Given the description of an element on the screen output the (x, y) to click on. 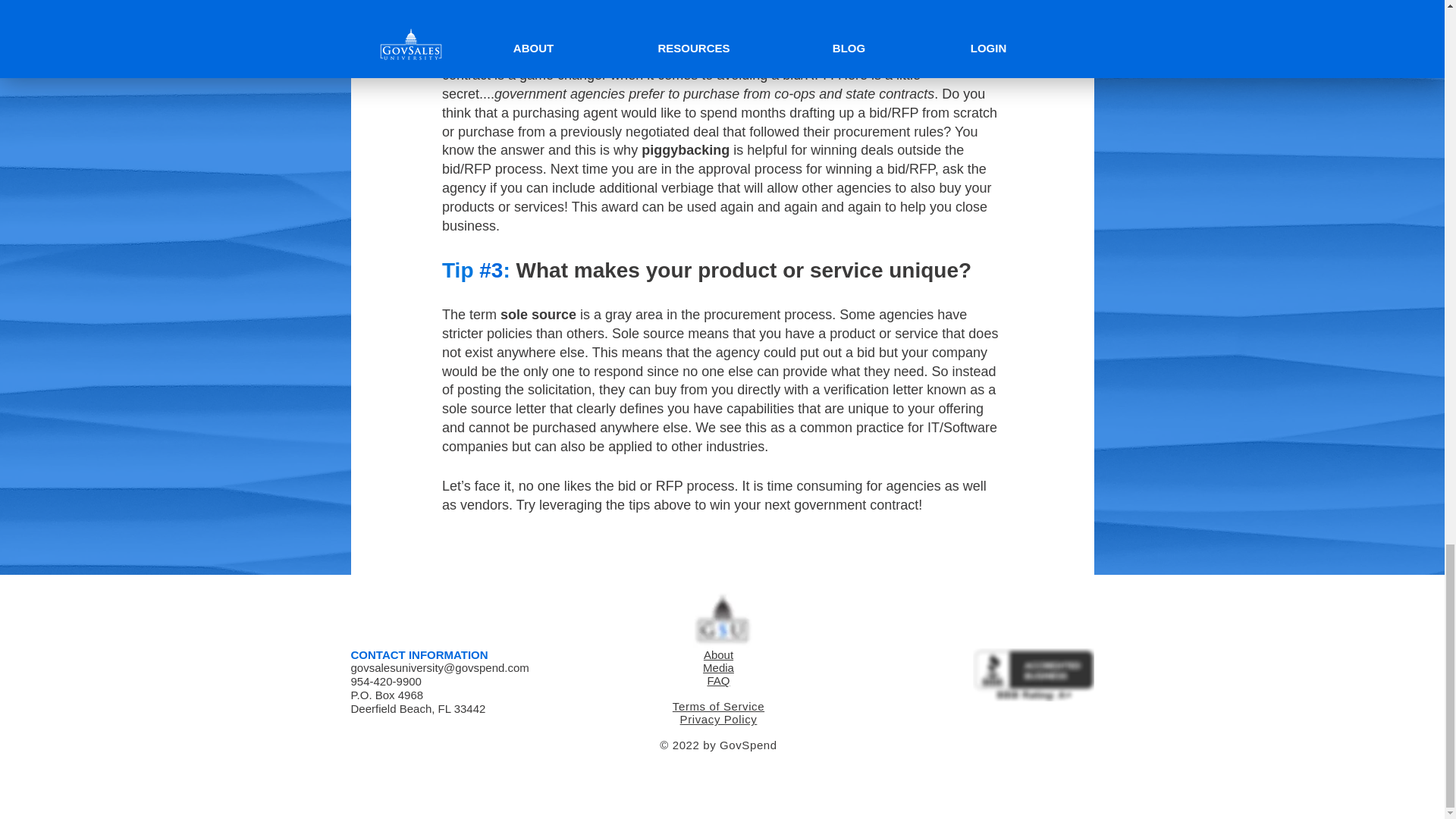
About (718, 654)
Terms of Service (718, 706)
Media (718, 667)
FAQ (717, 680)
Privacy Policy (718, 718)
